Given the description of an element on the screen output the (x, y) to click on. 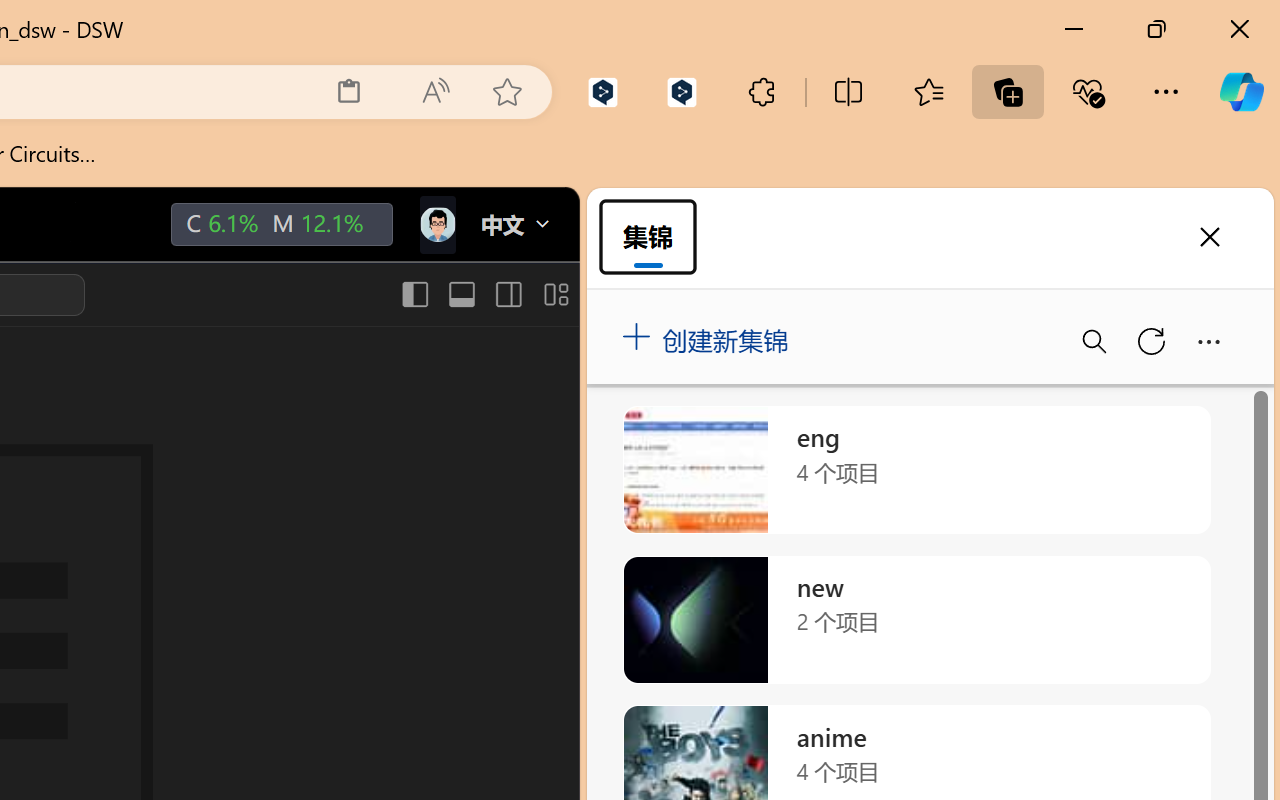
icon (436, 220)
Toggle Primary Side Bar (Ctrl+B) (413, 294)
icon (436, 224)
Customize Layout... (553, 294)
